Given the description of an element on the screen output the (x, y) to click on. 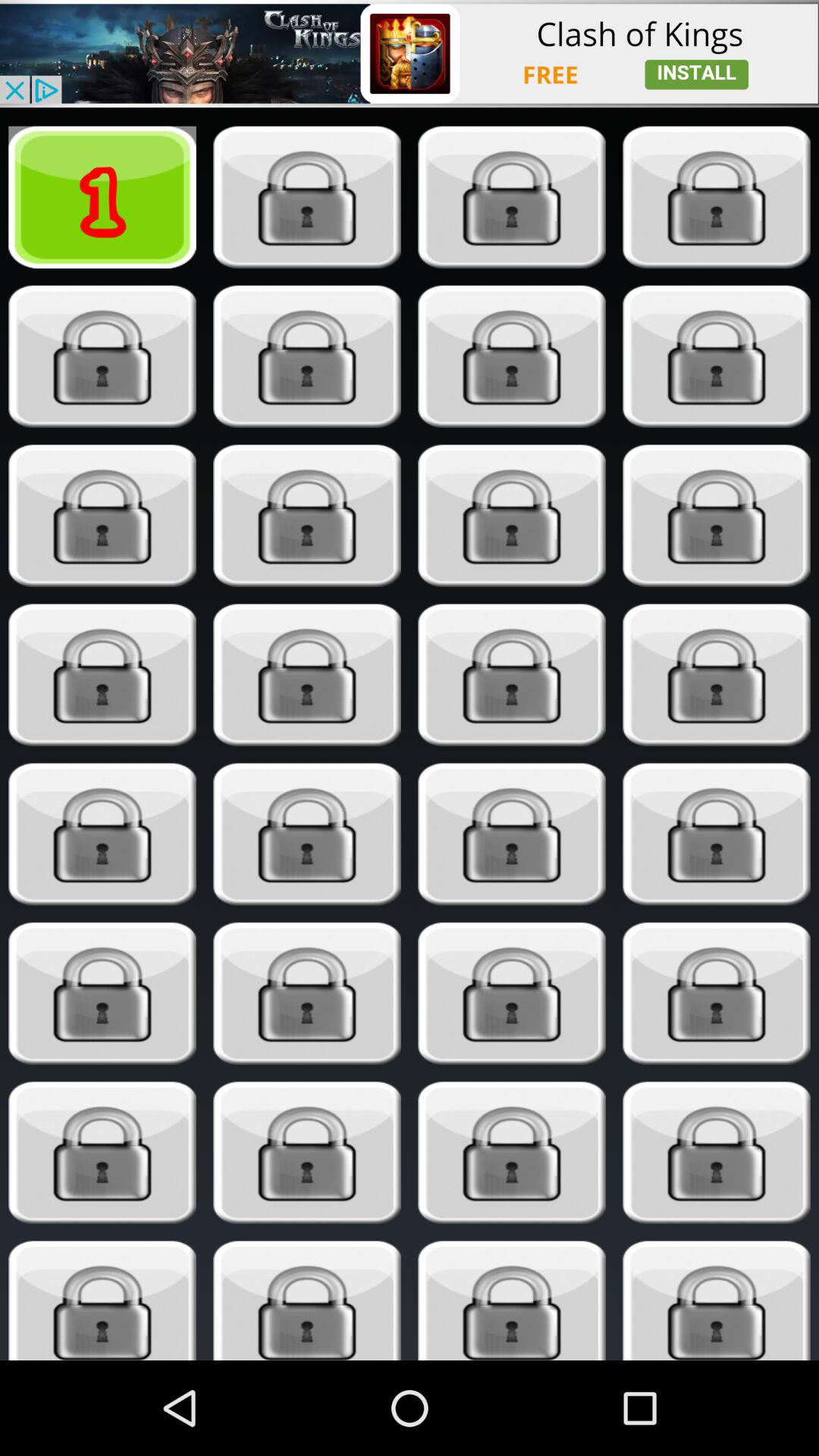
unlock level (102, 356)
